Given the description of an element on the screen output the (x, y) to click on. 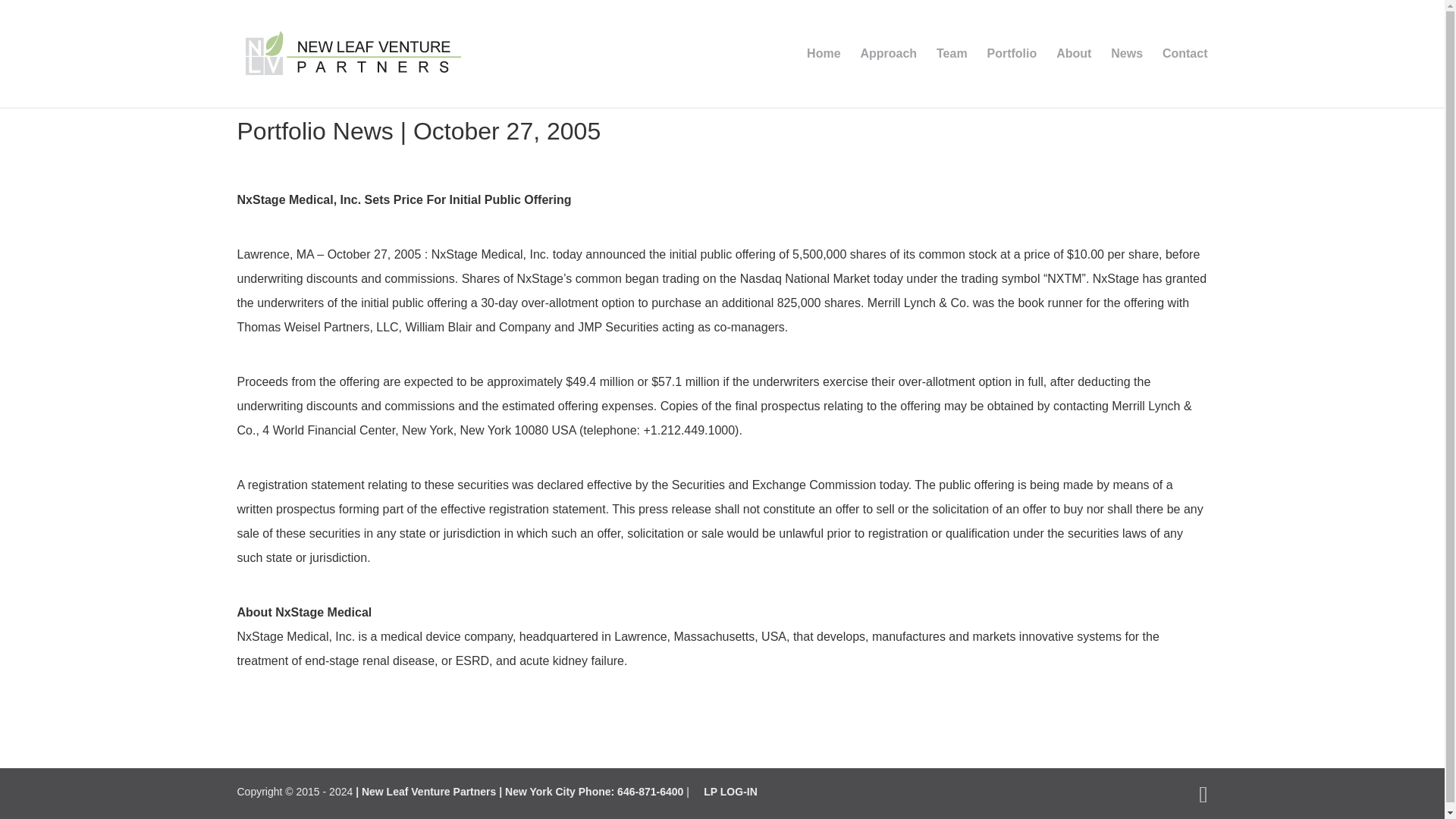
Approach (888, 77)
News (1126, 77)
About (1073, 77)
Team (952, 77)
Portfolio (1011, 77)
Home (823, 77)
LP LOG-IN (730, 791)
Contact (1184, 77)
